Given the description of an element on the screen output the (x, y) to click on. 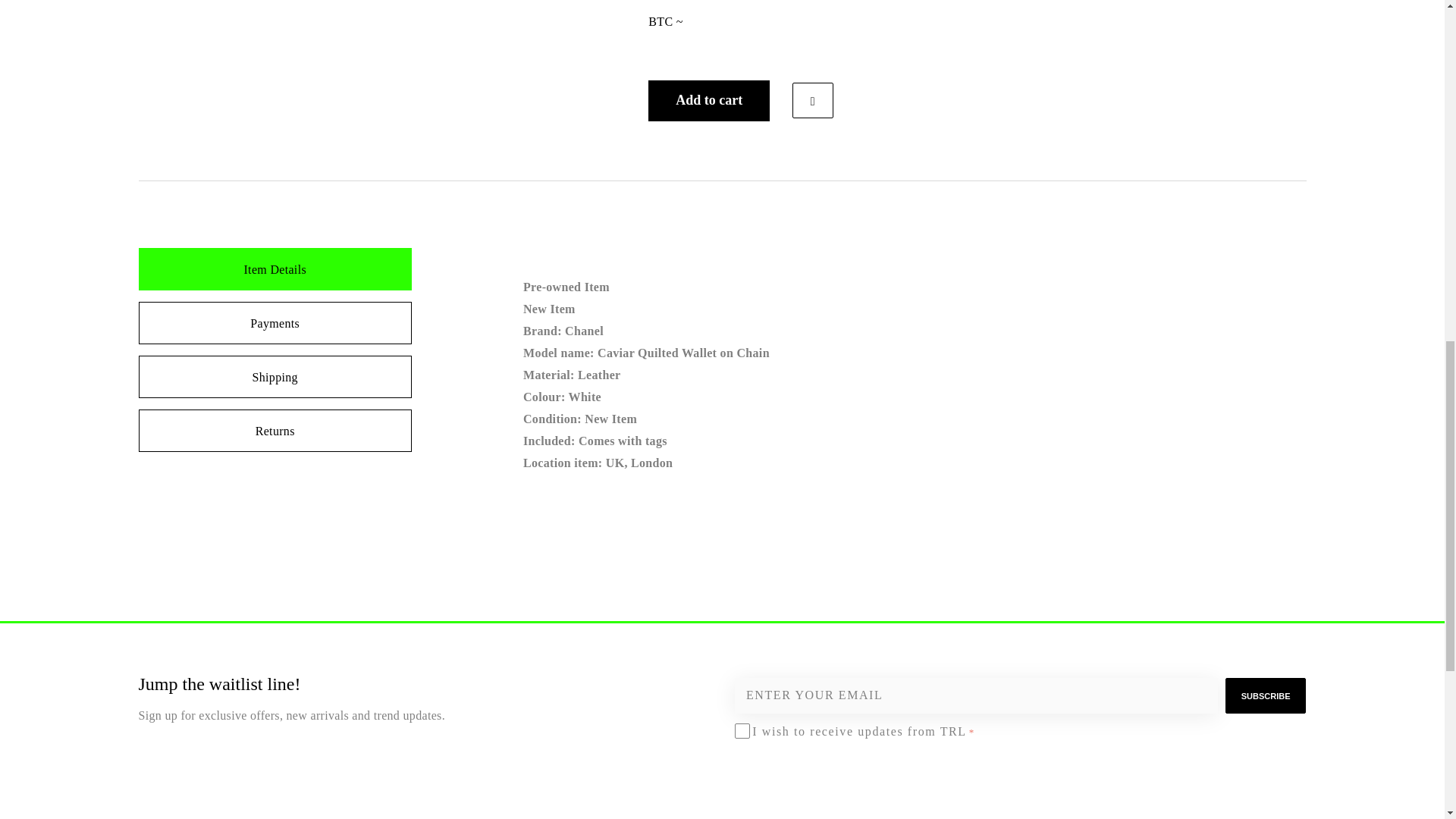
on (739, 730)
Add to wish list (812, 99)
Add to cart (708, 100)
